Given the description of an element on the screen output the (x, y) to click on. 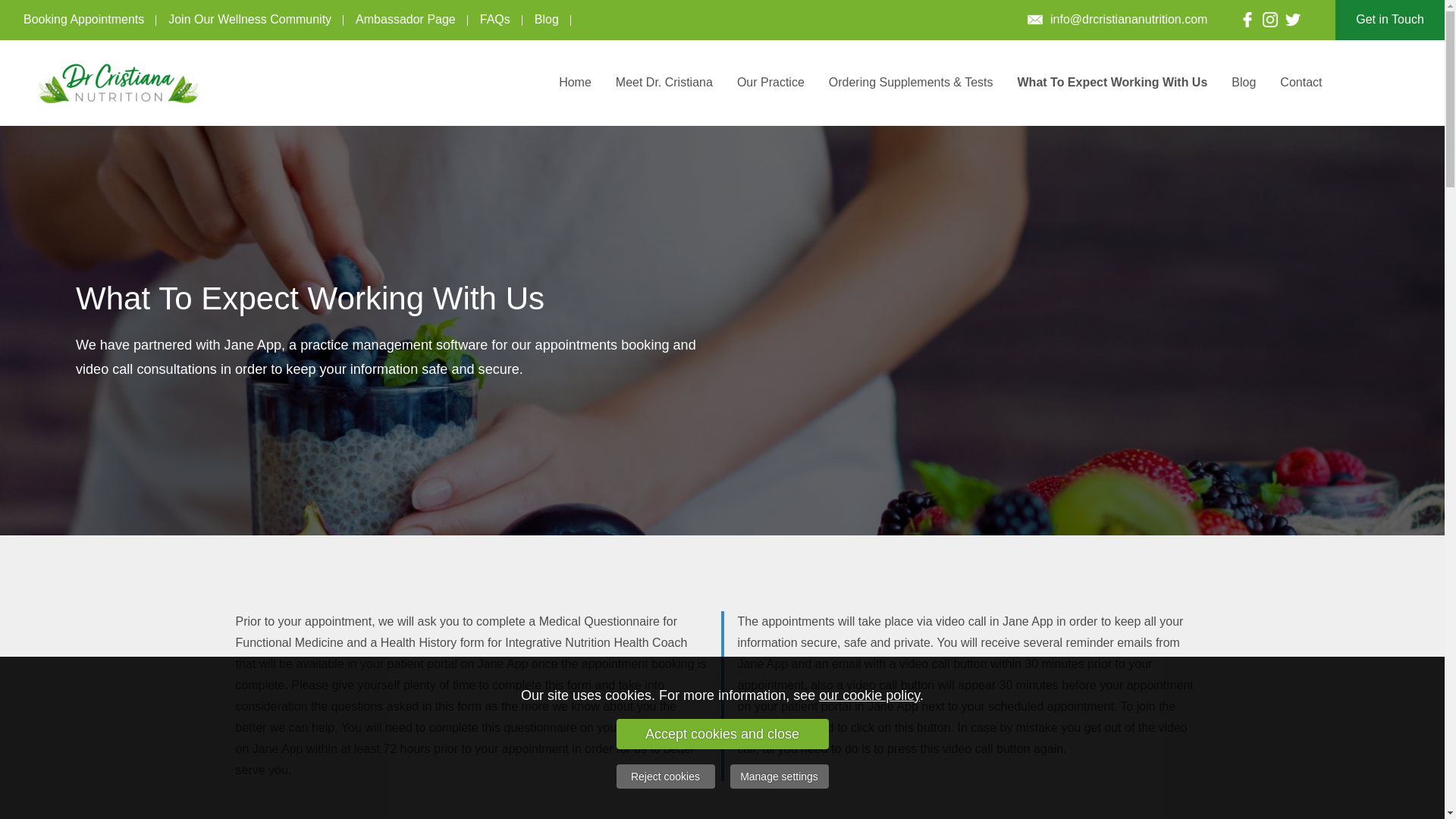
Our Practice (770, 82)
Contact (1300, 82)
Booking Appointments (83, 19)
Ambassador Page (405, 19)
FAQs (494, 19)
Home (575, 82)
Meet Dr. Cristiana (664, 82)
Blog (546, 19)
Blog (1244, 82)
Join Our Wellness Community (249, 19)
